Given the description of an element on the screen output the (x, y) to click on. 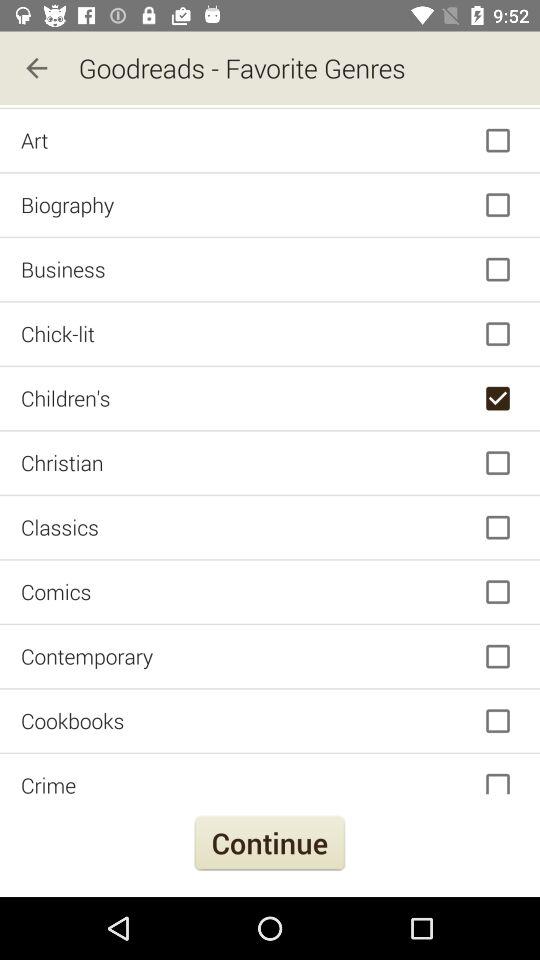
turn off the icon at the top left corner (36, 68)
